Given the description of an element on the screen output the (x, y) to click on. 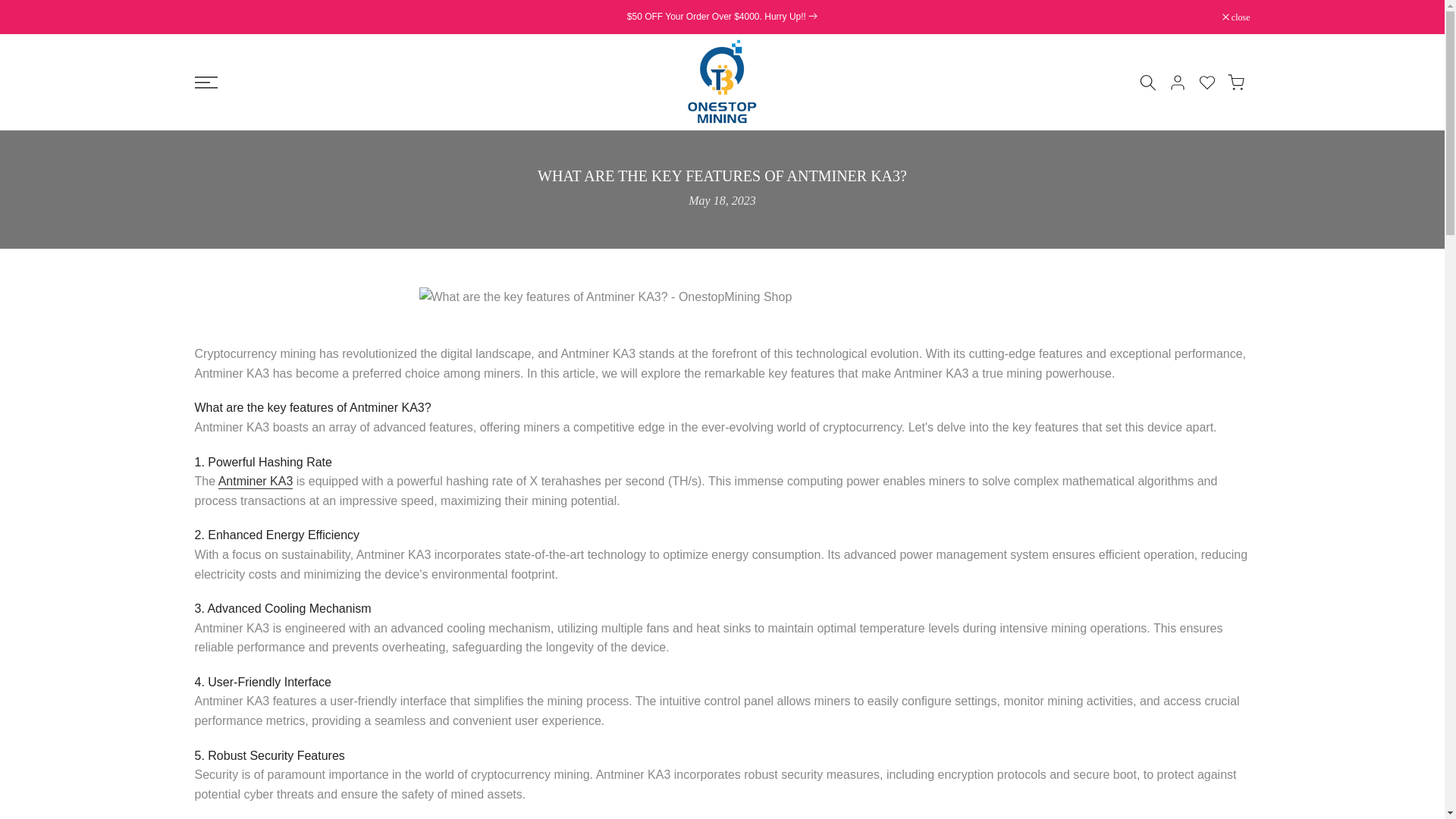
Antminer KA3 (256, 481)
Skip to content (10, 7)
close (1236, 16)
